Given the description of an element on the screen output the (x, y) to click on. 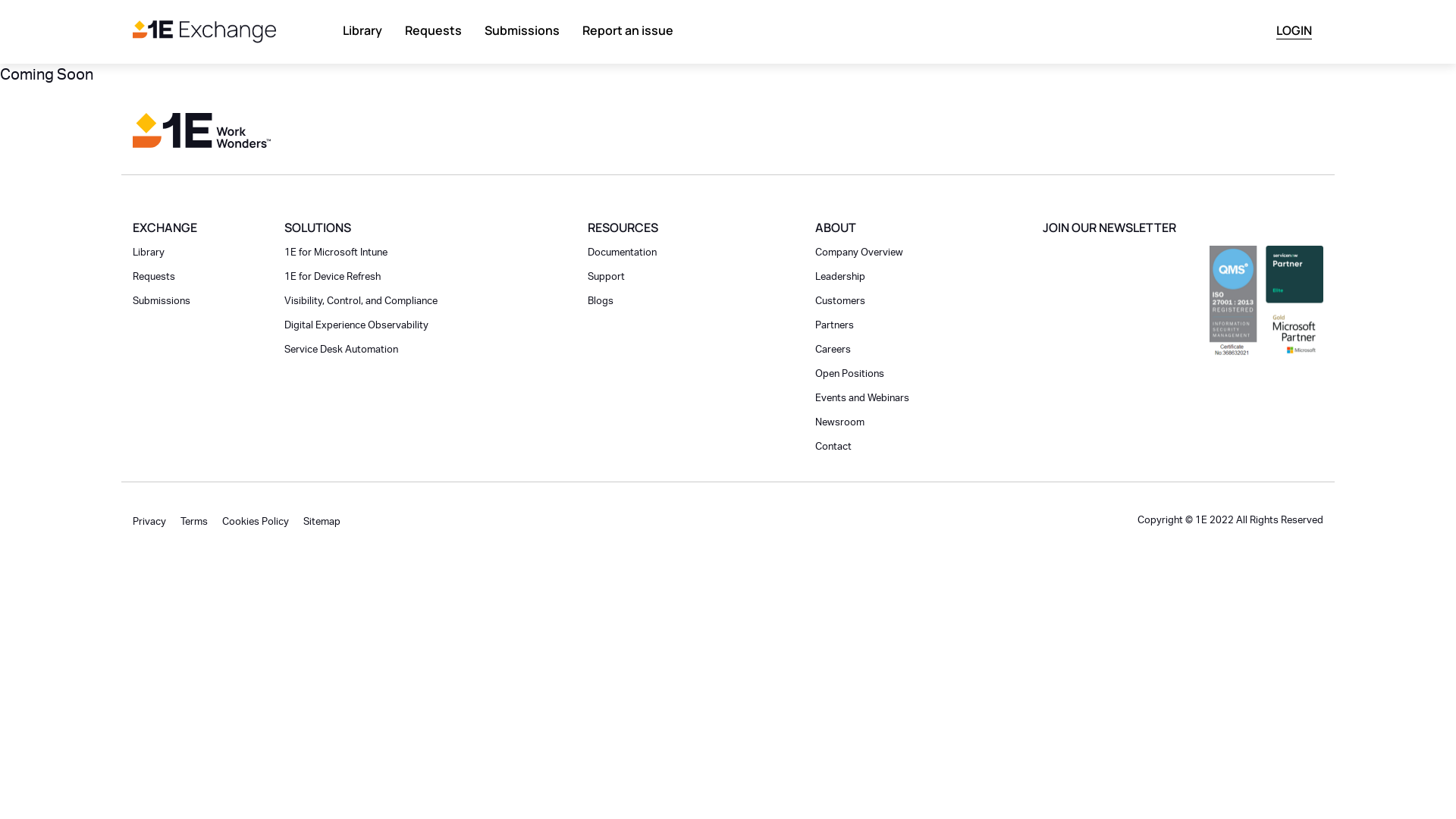
1E for Microsoft Intune Element type: text (335, 252)
Blogs Element type: text (600, 301)
Sitemap Element type: text (321, 522)
footer-seals Element type: hover (1266, 301)
Newsroom Element type: text (839, 422)
Documentation Element type: text (621, 252)
Careers Element type: text (832, 349)
1E for Device Refresh Element type: text (332, 277)
Partners Element type: text (834, 325)
Terms Element type: text (193, 522)
LOGIN Element type: text (1293, 31)
Support Element type: text (605, 277)
Library Element type: text (148, 252)
Open Positions Element type: text (849, 374)
Events and Webinars Element type: text (862, 398)
Cookies Policy Element type: text (255, 522)
Report an issue Element type: text (627, 31)
Leadership Element type: text (840, 277)
Submissions Element type: text (521, 31)
Library Element type: text (362, 31)
Company Overview Element type: text (859, 252)
1E-logo-color-horizontal-tagline-1 Element type: hover (201, 129)
Customers Element type: text (840, 301)
Requests Element type: text (432, 31)
Requests Element type: text (153, 277)
Digital Experience Observability Element type: text (356, 325)
Submissions Element type: text (161, 301)
Contact Element type: text (833, 446)
Privacy Element type: text (149, 522)
Service Desk Automation Element type: text (341, 349)
Visibility, Control, and Compliance Element type: text (360, 301)
